Given the description of an element on the screen output the (x, y) to click on. 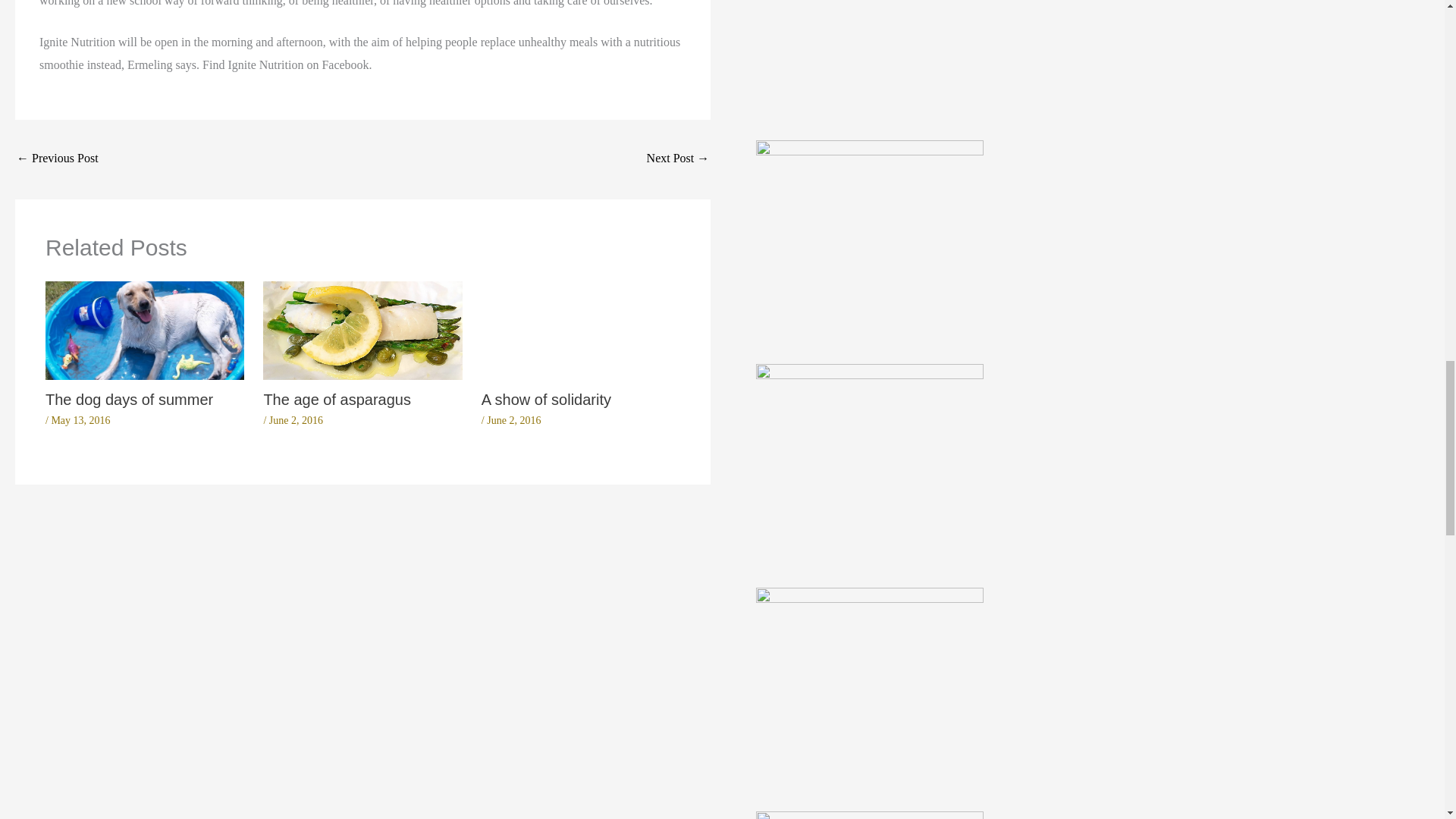
The dog days of summer (128, 399)
Holy Cross Sisters urging inclusion for all (678, 159)
The age of asparagus (336, 399)
A show of solidarity (546, 399)
HIGHLIGHTS: August 25-27 (57, 159)
